Given the description of an element on the screen output the (x, y) to click on. 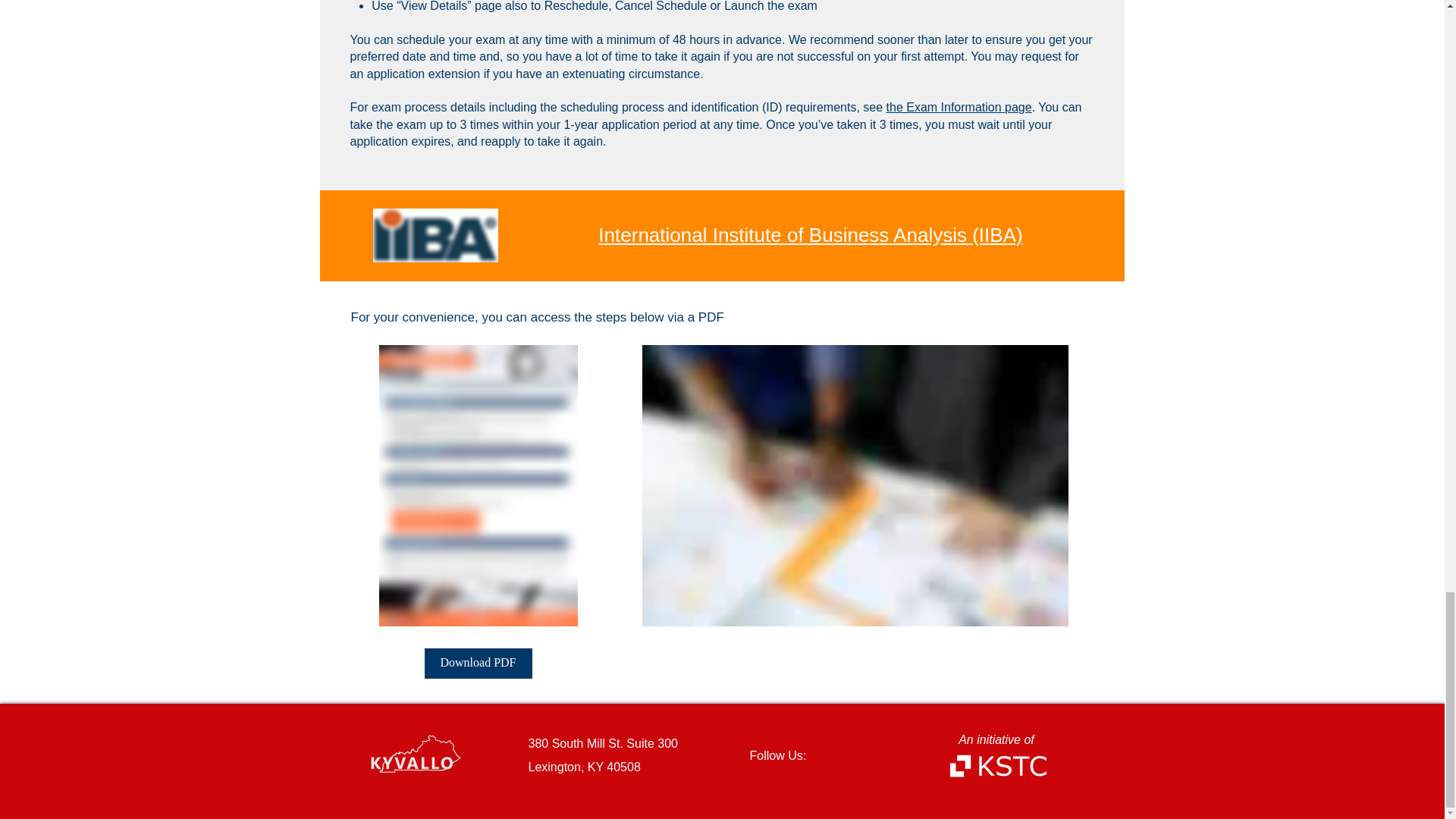
Download PDF (478, 663)
the Exam Information page (959, 106)
